Given the description of an element on the screen output the (x, y) to click on. 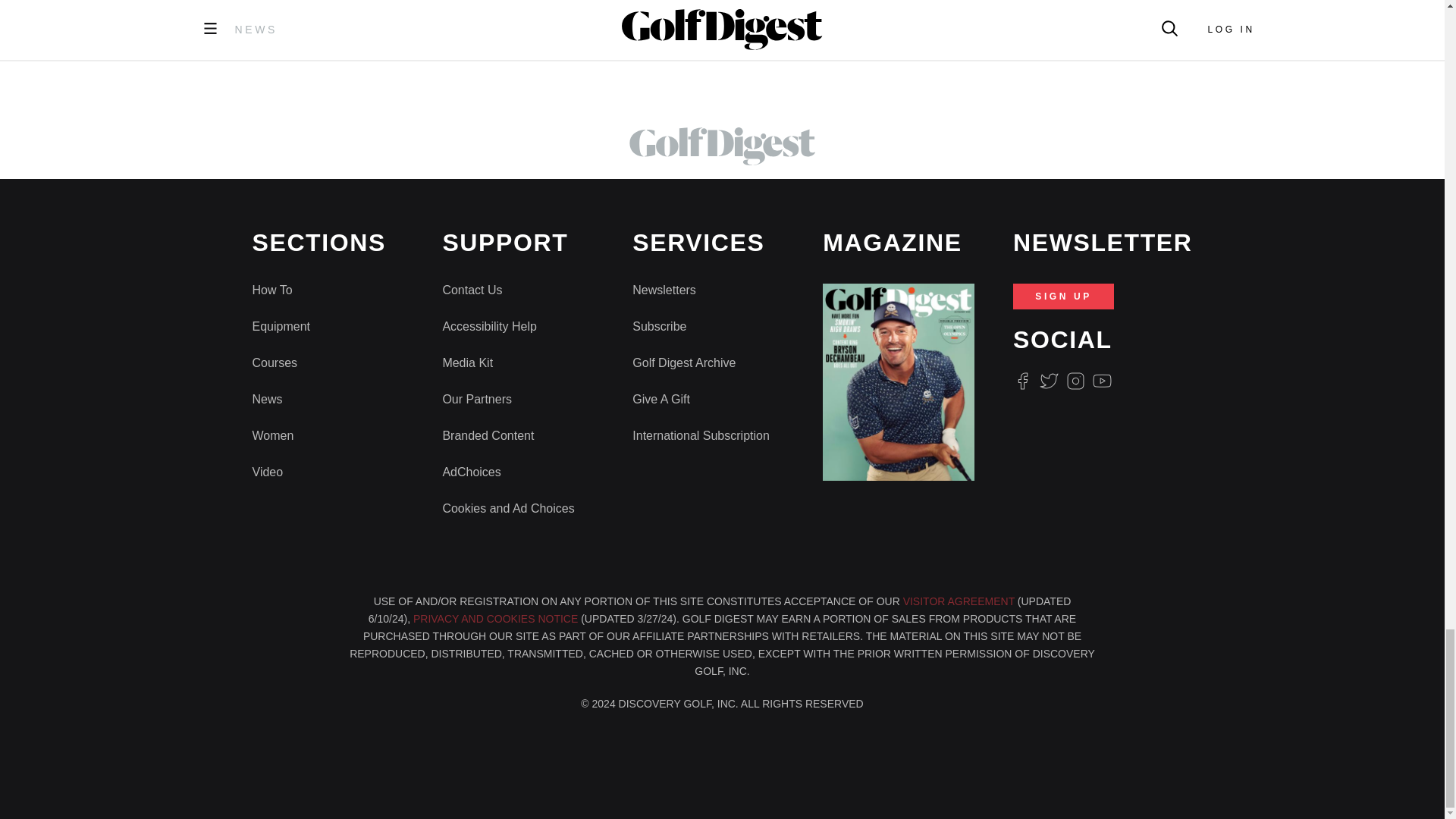
Facebook Logo (1022, 380)
Youtube Icon (1102, 380)
Instagram Logo (1074, 380)
Twitter Logo (1048, 380)
